Given the description of an element on the screen output the (x, y) to click on. 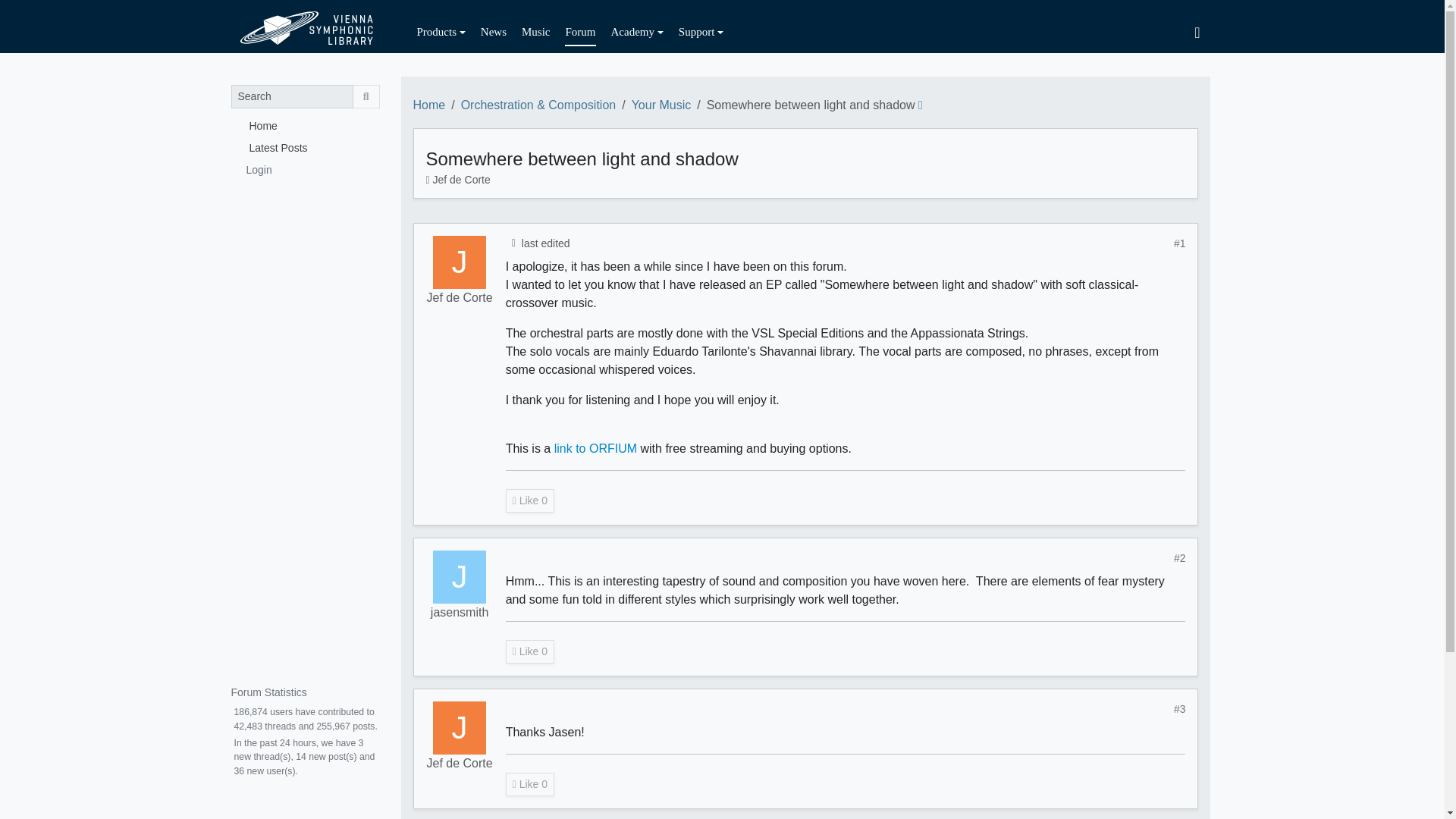
Jef de Corte (459, 262)
Jef de Corte (459, 298)
Forum (579, 32)
Products (441, 32)
News (493, 32)
Latest Posts (304, 147)
Academy (637, 32)
Jef de Corte (461, 179)
Music (535, 32)
jasensmith (459, 576)
